Given the description of an element on the screen output the (x, y) to click on. 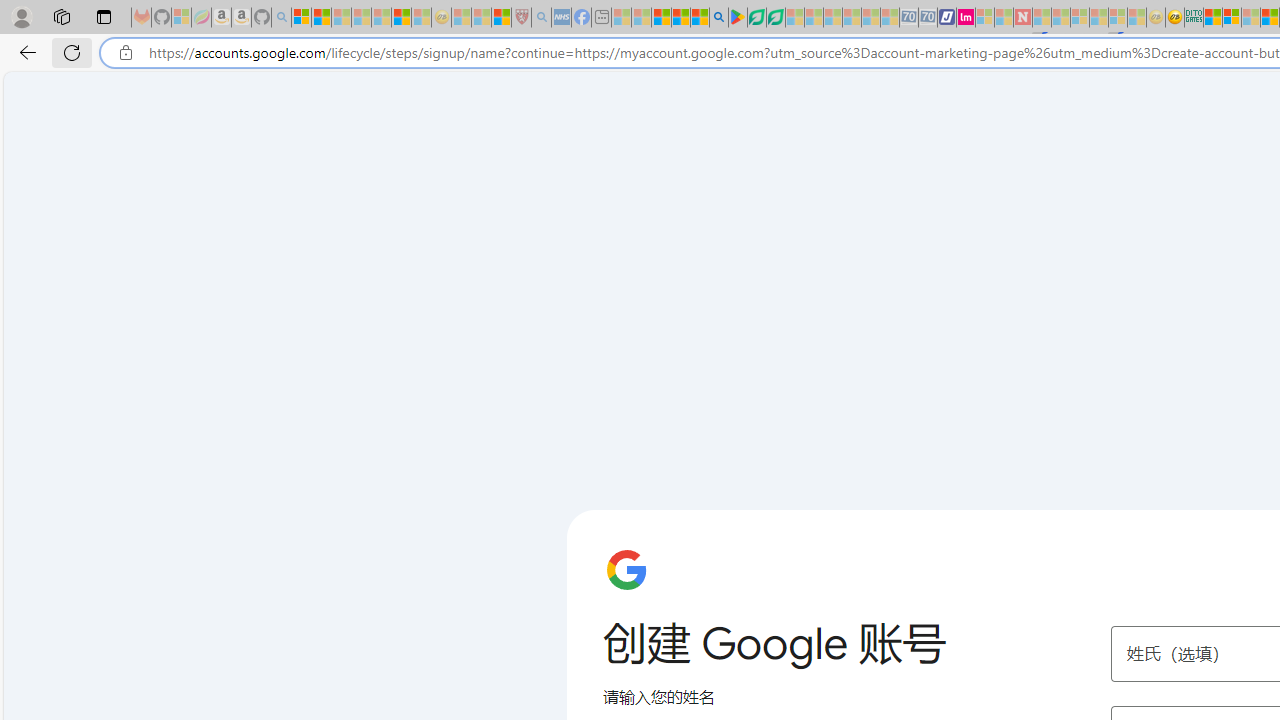
DITOGAMES AG Imprint (1194, 17)
The Weather Channel - MSN - Sleeping (340, 17)
Latest Politics News & Archive | Newsweek.com - Sleeping (1022, 17)
Robert H. Shmerling, MD - Harvard Health - Sleeping (521, 17)
